Given the description of an element on the screen output the (x, y) to click on. 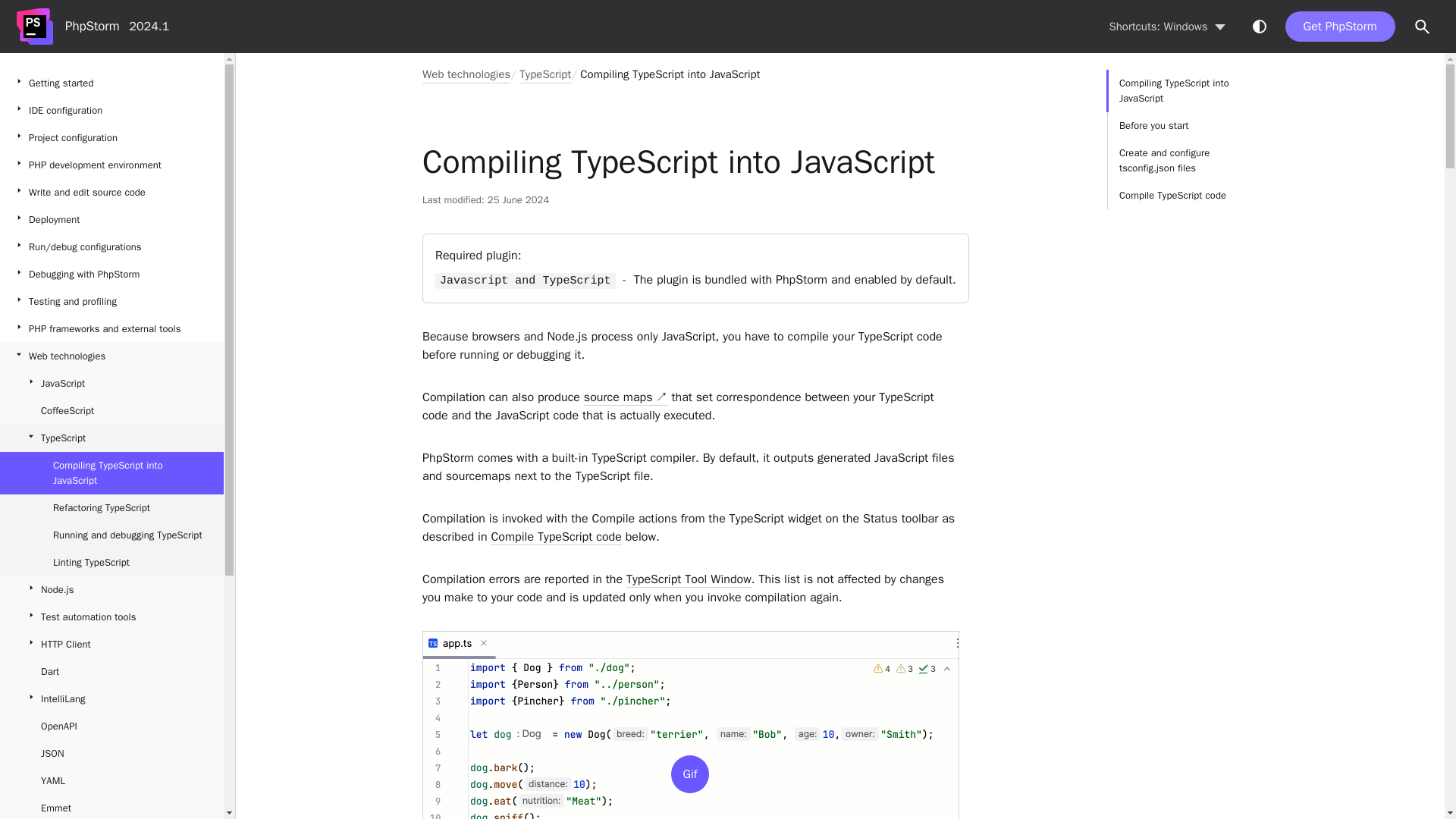
Get PhpStorm (1339, 26)
HTTP Client (112, 644)
Switch theme (1259, 26)
Running and debugging TypeScript (112, 534)
JavaScript (112, 383)
Dart (112, 671)
Project configuration (112, 137)
Write and edit source code (112, 192)
Debugging with PhpStorm (112, 274)
PHP development environment (112, 165)
JSON (112, 753)
Search (1422, 26)
IDE configuration (112, 110)
